Given the description of an element on the screen output the (x, y) to click on. 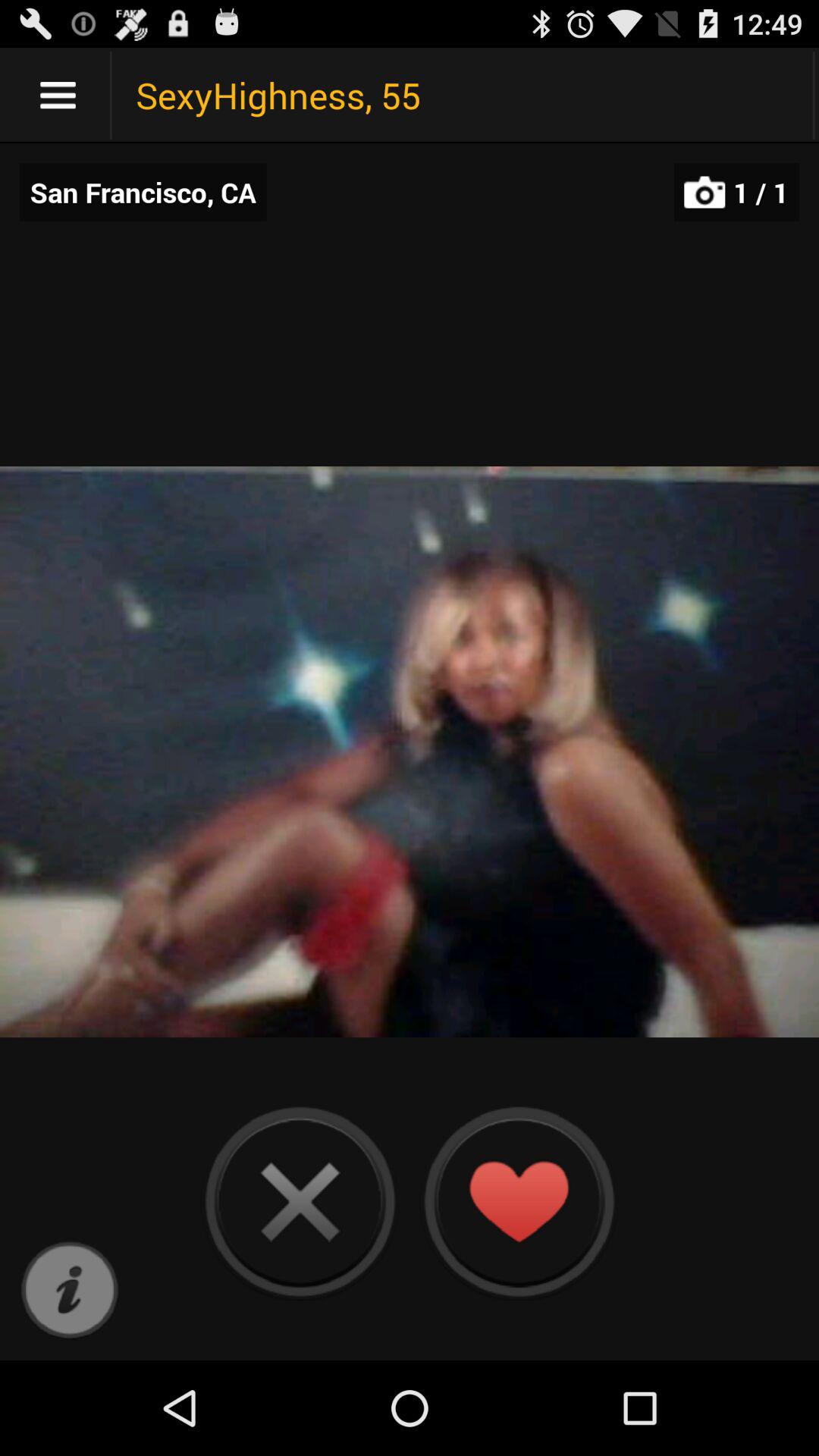
love (518, 1200)
